Given the description of an element on the screen output the (x, y) to click on. 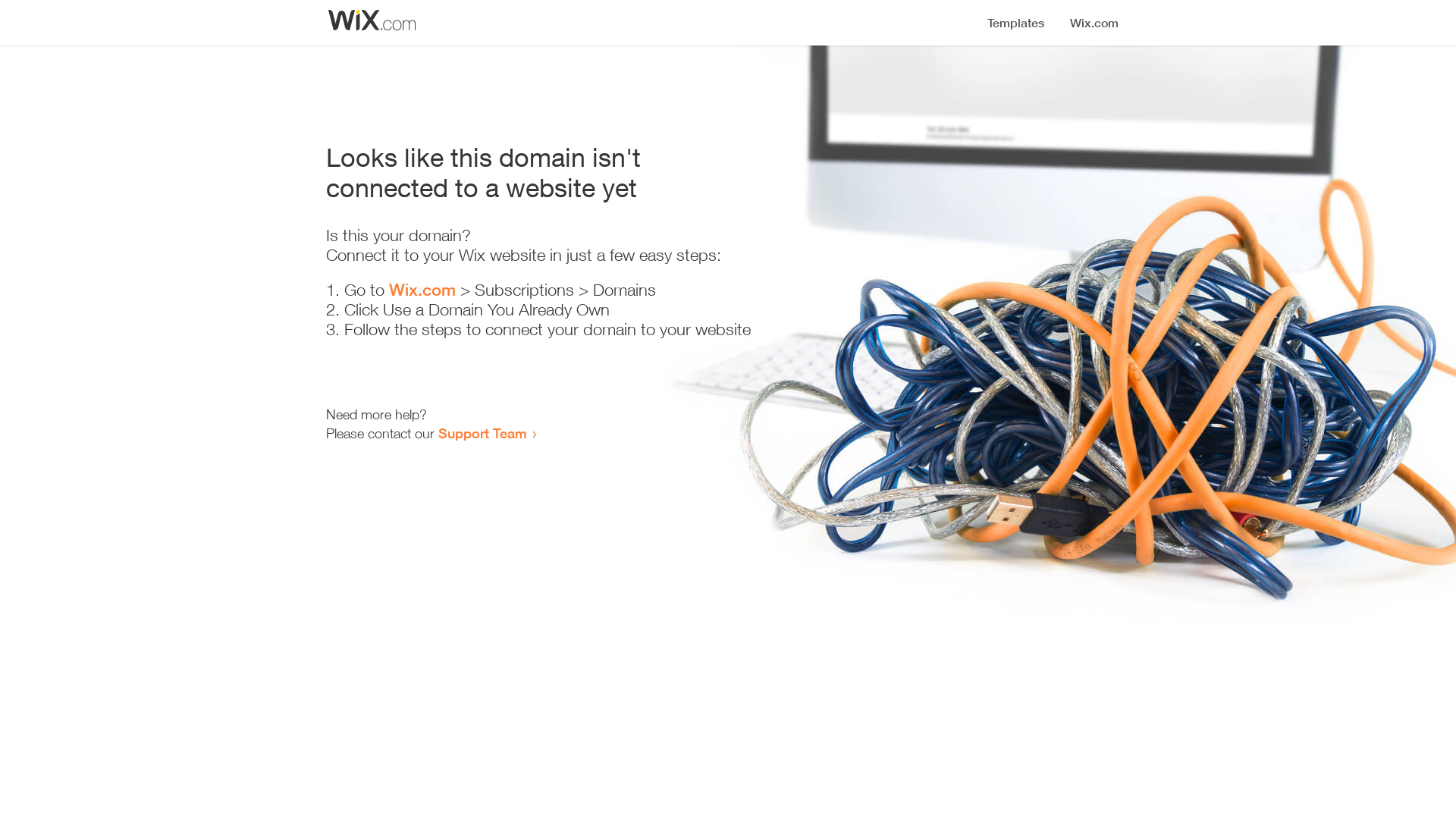
Support Team Element type: text (482, 432)
Wix.com Element type: text (422, 289)
